Given the description of an element on the screen output the (x, y) to click on. 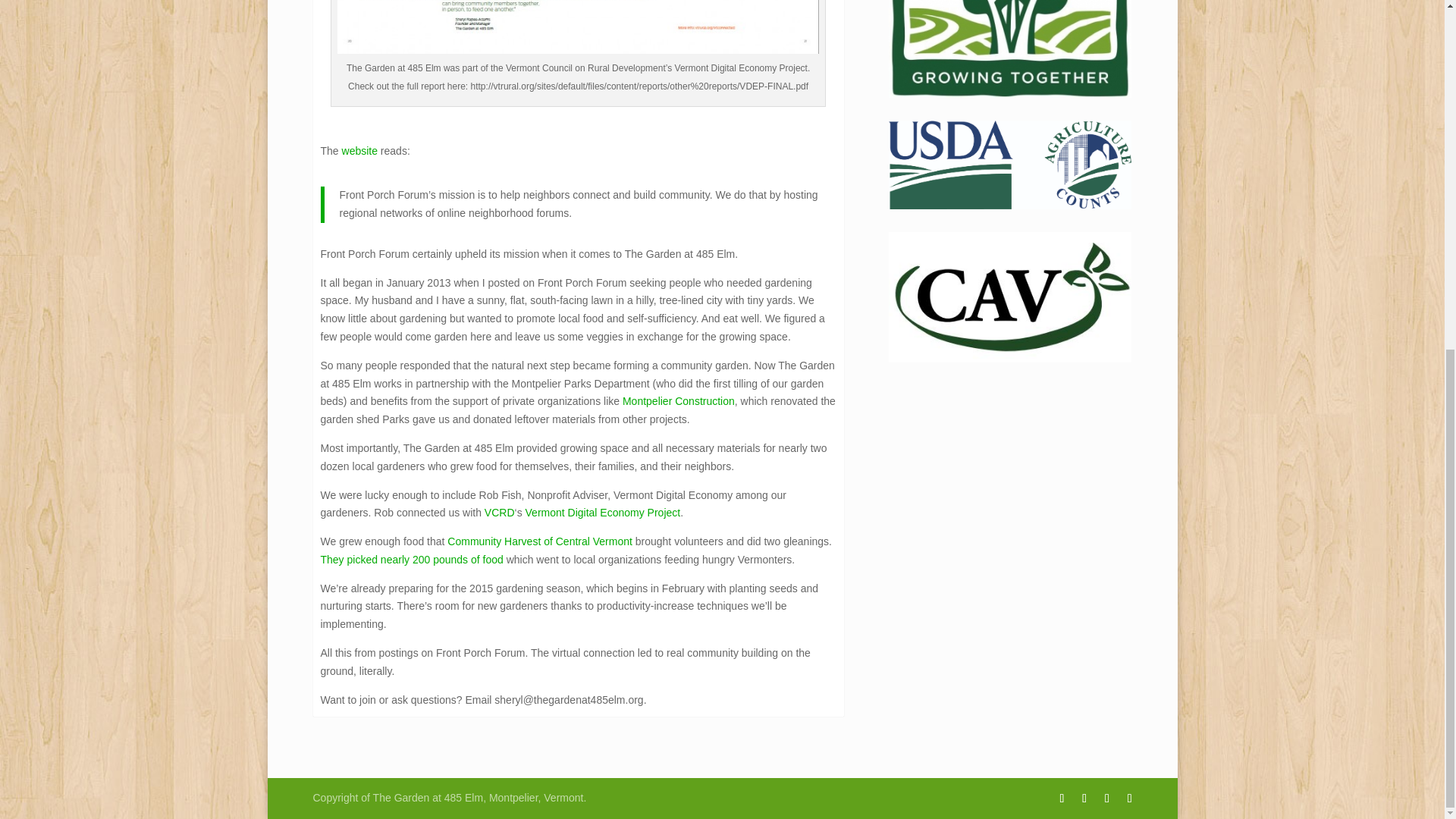
Vermont Council on Rural Development (499, 512)
Compostin Association of Vermont CAV-LOGO (1009, 296)
Community Harvest of Central Vermont (538, 541)
Community Harvest of Central Vermont (538, 541)
Montpelier Construction (679, 400)
website (359, 150)
They picked nearly 200 pounds of food (411, 559)
Front Porch Forum - About Us (359, 150)
Montpelier Construction (679, 400)
Vermont Digital Economy Project (603, 512)
2nd Gleaning, Twice as Much (411, 559)
Vermont Digital Economy Project (603, 512)
VCRD (499, 512)
